Given the description of an element on the screen output the (x, y) to click on. 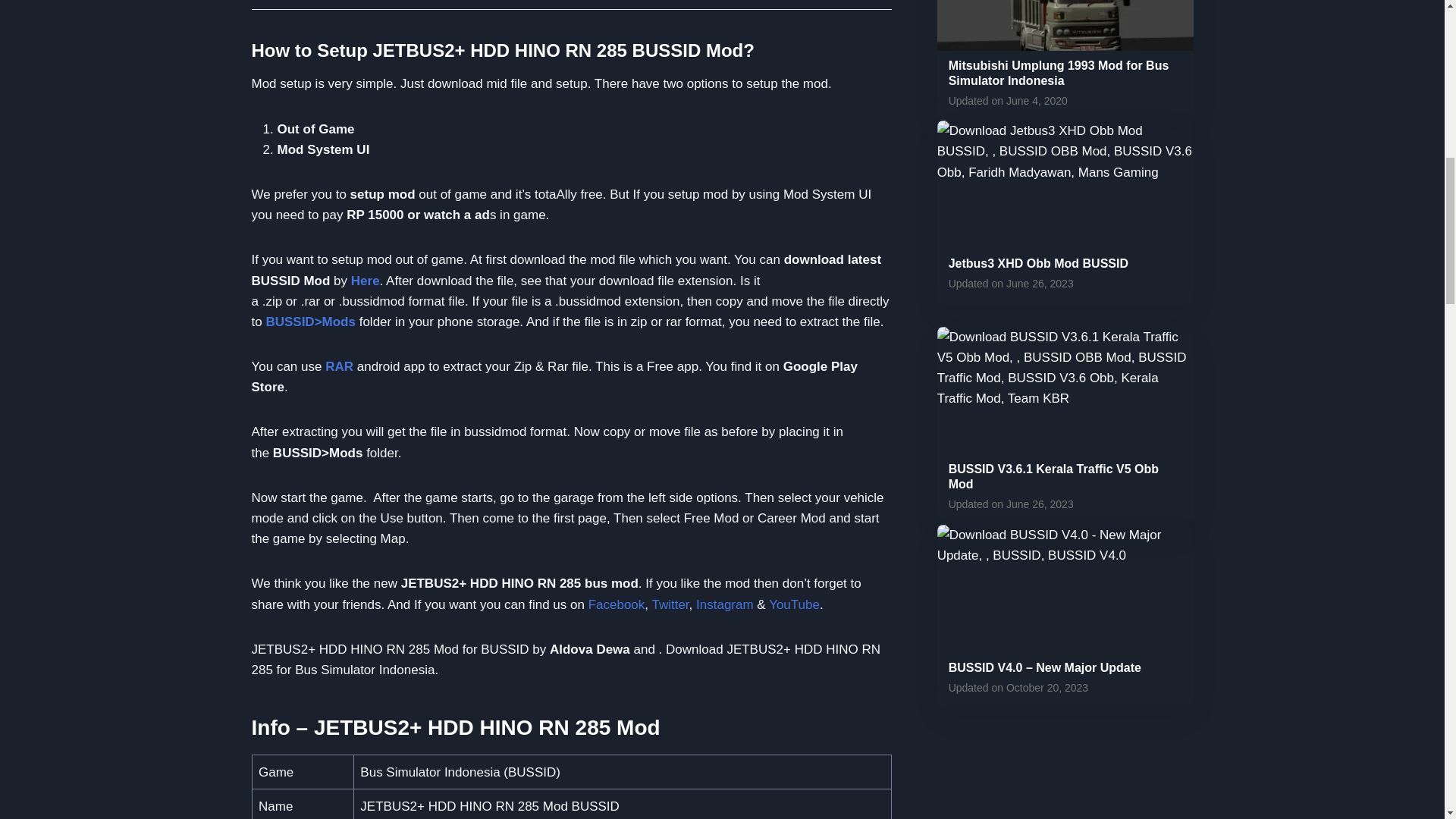
Here (365, 280)
